Given the description of an element on the screen output the (x, y) to click on. 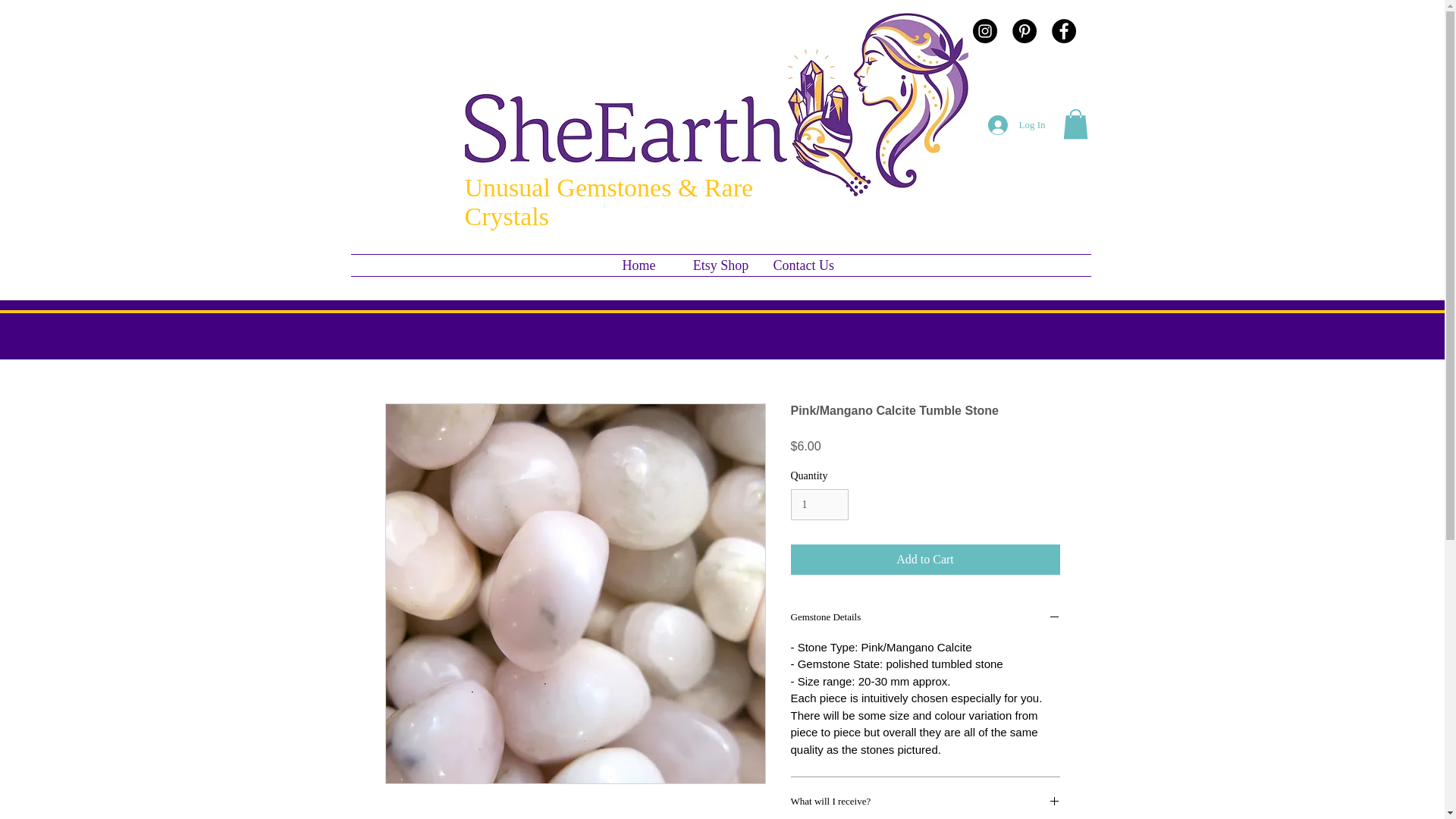
Add to Cart (924, 559)
1 (818, 504)
Contact Us (802, 265)
Gemstone Details (924, 618)
Etsy Shop (720, 265)
Home (637, 265)
What will I receive? (924, 802)
Log In (1015, 124)
